Given the description of an element on the screen output the (x, y) to click on. 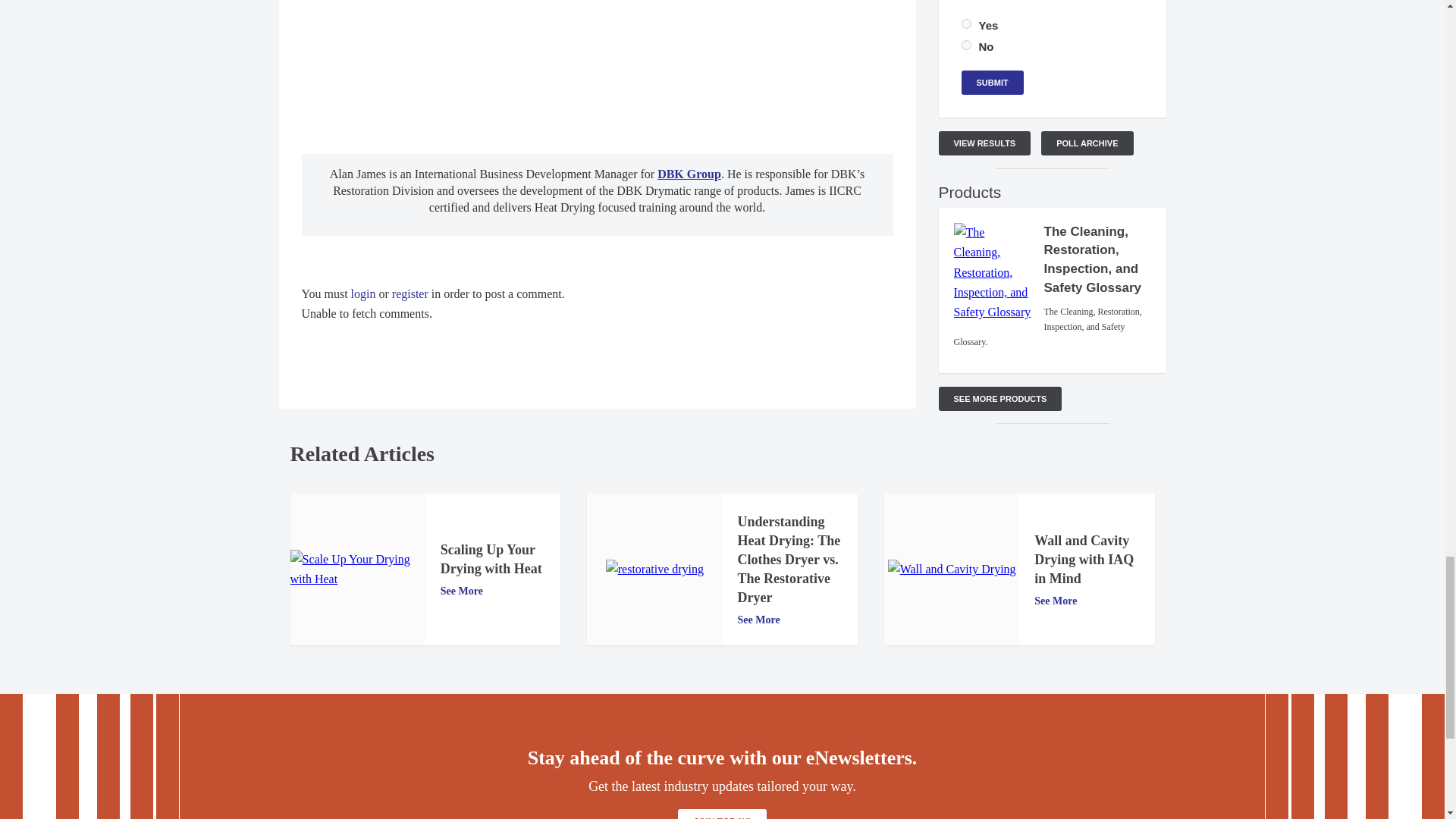
Scale Up Your Drying with Heat (357, 569)
Submit (991, 82)
Interaction questions (597, 60)
438 (965, 23)
Wall and Cavity Drying (952, 569)
restorative drying (654, 569)
439 (965, 44)
